Given the description of an element on the screen output the (x, y) to click on. 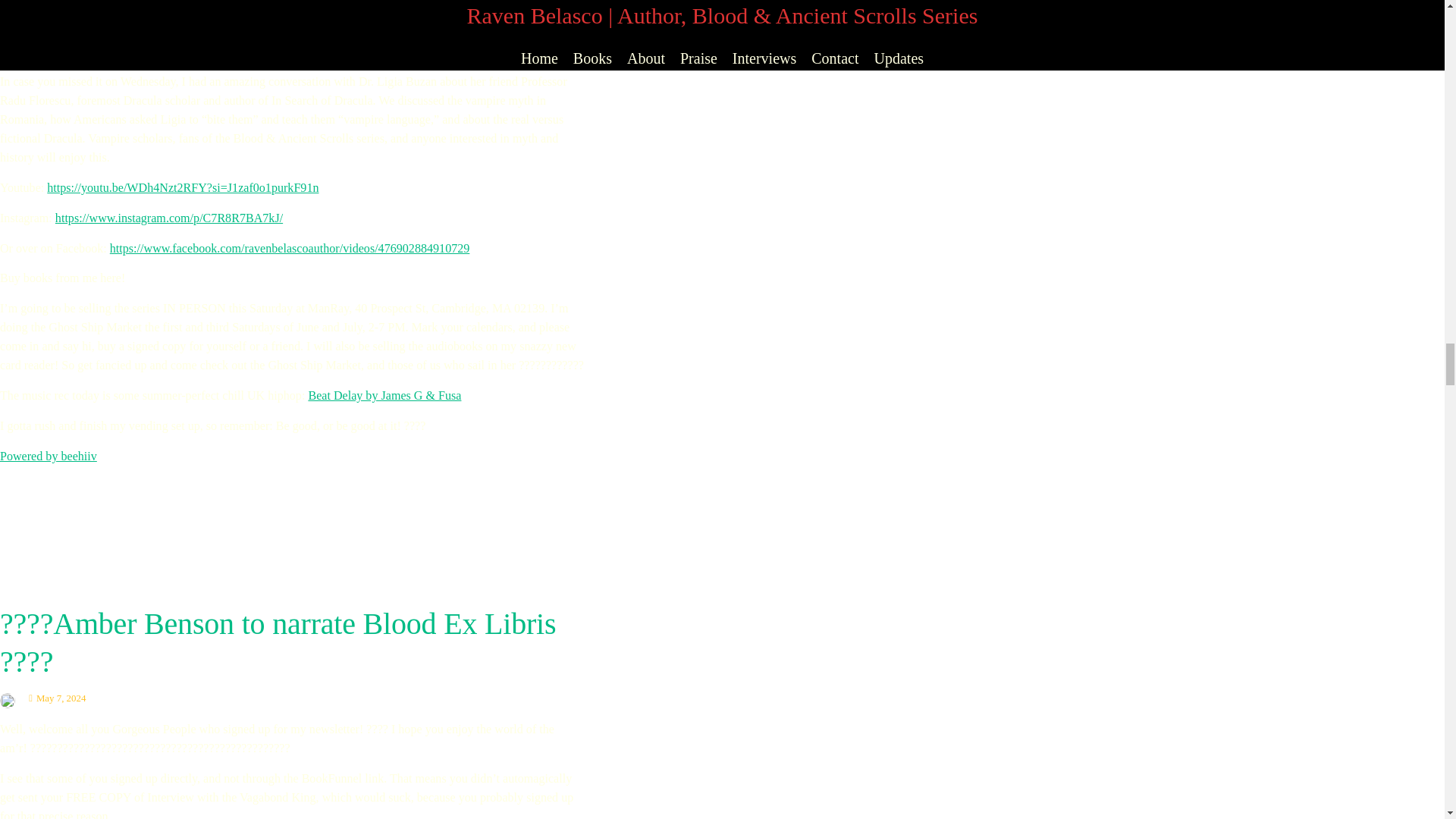
9:34 pm (57, 697)
View all posts by  (10, 697)
